Given the description of an element on the screen output the (x, y) to click on. 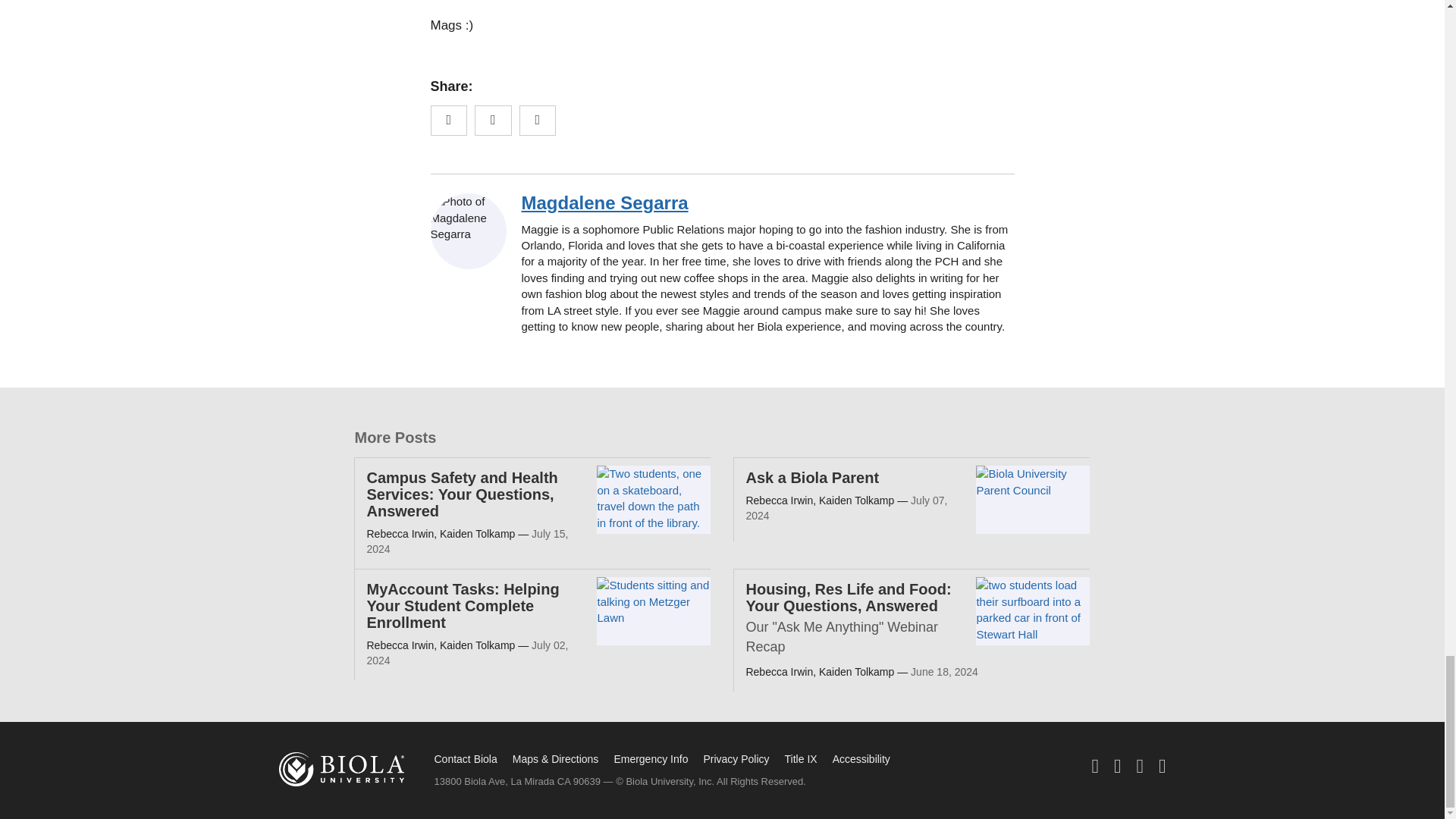
Contact Biola (464, 758)
Title IX (800, 758)
Accessibility (860, 758)
Privacy Policy (735, 758)
Housing, Res Life and Food: Your Questions, Answered (847, 597)
Emergency Info (649, 758)
MyAccount Tasks: Helping Your Student Complete Enrollment (462, 605)
Magdalene Segarra (604, 202)
Campus Safety and Health Services: Your Questions, Answered (461, 494)
Ask a Biola Parent (812, 477)
